Given the description of an element on the screen output the (x, y) to click on. 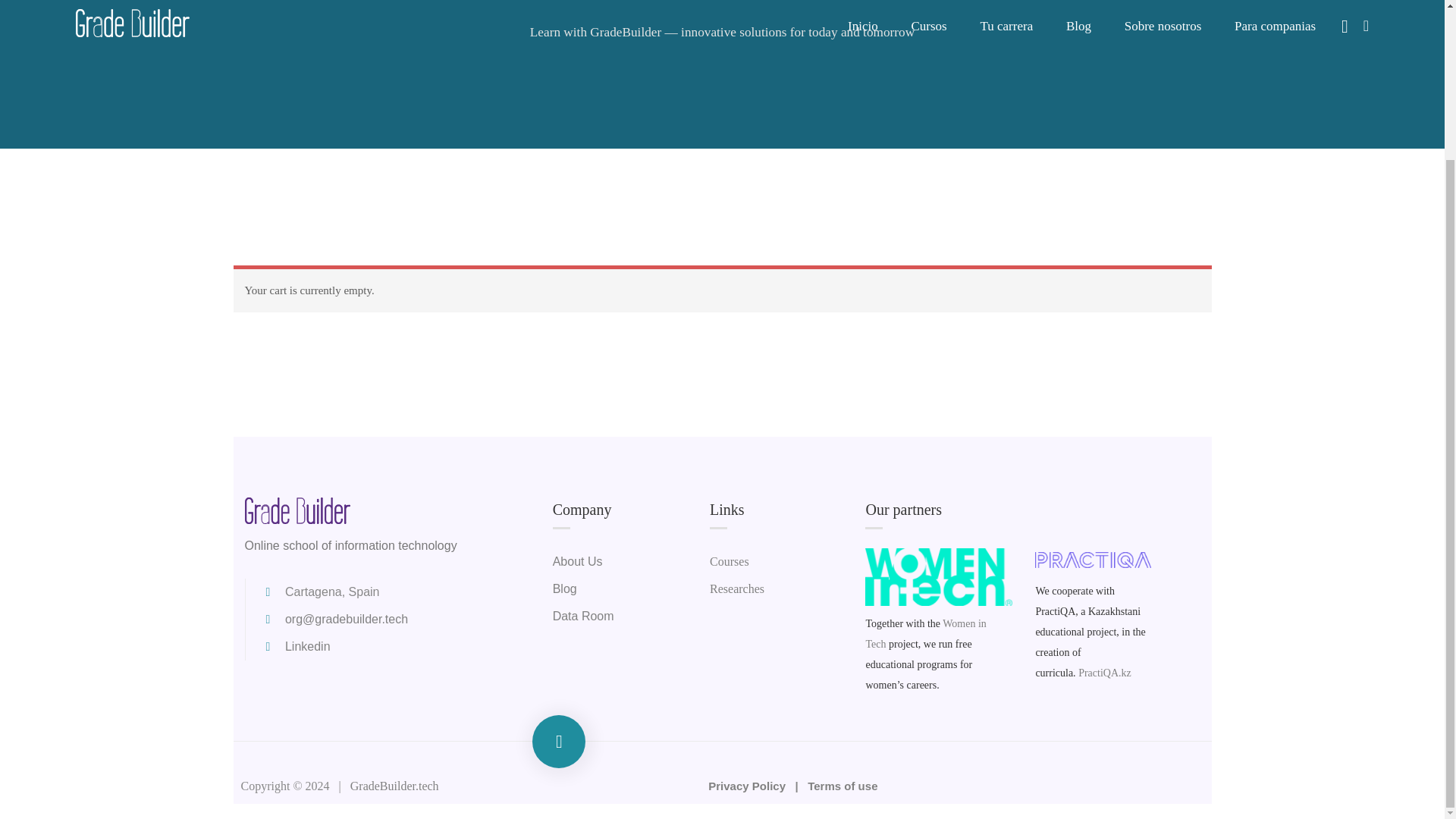
Researches (737, 588)
Women in Tech (924, 634)
Blog (564, 588)
Login (837, 240)
Courses (729, 561)
okjhbv (1093, 560)
Privacy Policy  (748, 785)
0oijh (937, 576)
Linkedin (295, 645)
Terms of use (842, 785)
